Given the description of an element on the screen output the (x, y) to click on. 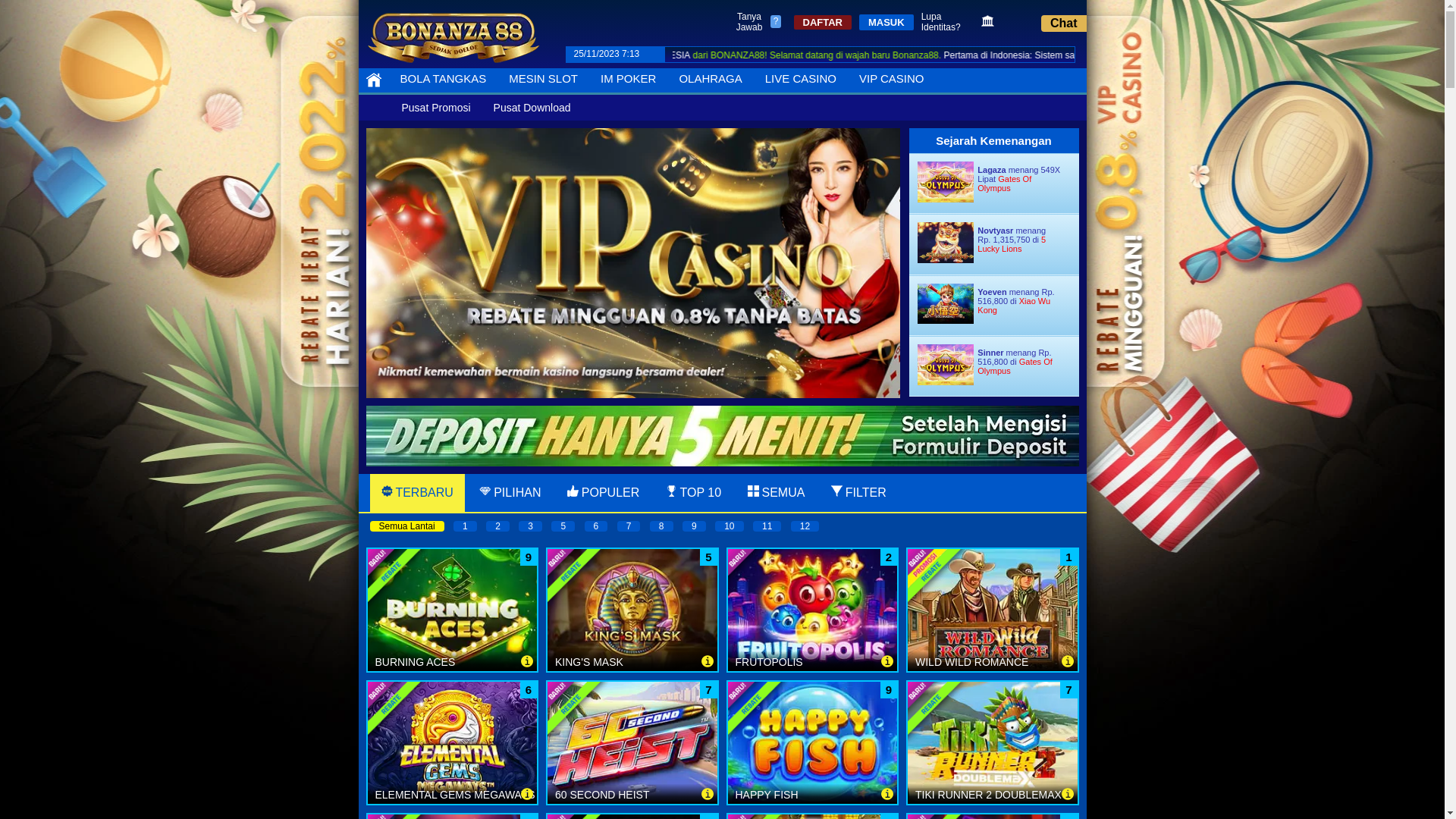
9 Element type: text (693, 525)
Pusat Promosi Element type: text (435, 107)
OLAHRAGA Element type: text (710, 78)
Pusat Download Element type: text (532, 107)
6 Element type: text (596, 525)
PPElementalGemsMW Element type: hover (451, 742)
IM POKER Element type: text (628, 78)
FILTER Element type: text (865, 492)
Next item in carousel (1 of 1) Element type: hover (887, 262)
QT_BO_HappyFish Element type: hover (812, 742)
Semua Lantai Element type: text (407, 525)
DAFTAR Element type: text (821, 22)
Chat Element type: text (1063, 23)
Gates Of Olympus Element type: text (1014, 366)
BOLA TANGKAS Element type: text (442, 78)
MASUK Element type: text (886, 22)
5 Element type: text (562, 525)
10 Element type: text (729, 525)
TOP 10 Element type: text (700, 492)
7 Element type: text (628, 525)
TERBARU Element type: text (423, 492)
12 Element type: text (804, 525)
YGTikiRunner2DM Element type: hover (992, 742)
5 Lucky Lions Element type: text (1011, 244)
Previous item in carousel (1 of 1) Element type: hover (377, 262)
PILIHAN Element type: text (516, 492)
Wild Wild Romance Element type: hover (992, 610)
11 Element type: text (766, 525)
King\'s Mask Element type: hover (632, 610)
3 Element type: text (530, 525)
Lupa Identitas? Element type: text (949, 21)
VIP Casino Online Bonanza88 Element type: hover (632, 263)
POKER TERBARU INDONESIA Element type: text (784, 55)
SEMUA Element type: text (782, 492)
FRUTOPOLIS Element type: text (812, 610)
MESIN SLOT Element type: text (543, 78)
LIVE CASINO Element type: text (800, 78)
Tanya Jawab
? Element type: text (758, 21)
Burning Aces Element type: hover (451, 610)
Gates Of Olympus Element type: text (1004, 183)
YG60SecondHeist Element type: hover (632, 742)
8 Element type: text (661, 525)
Frutopolis Element type: hover (812, 610)
2 Element type: text (497, 525)
VIP CASINO Element type: text (891, 78)
POPULER Element type: text (610, 492)
1 Element type: text (464, 525)
Xiao Wu Kong Element type: text (1013, 305)
